Given the description of an element on the screen output the (x, y) to click on. 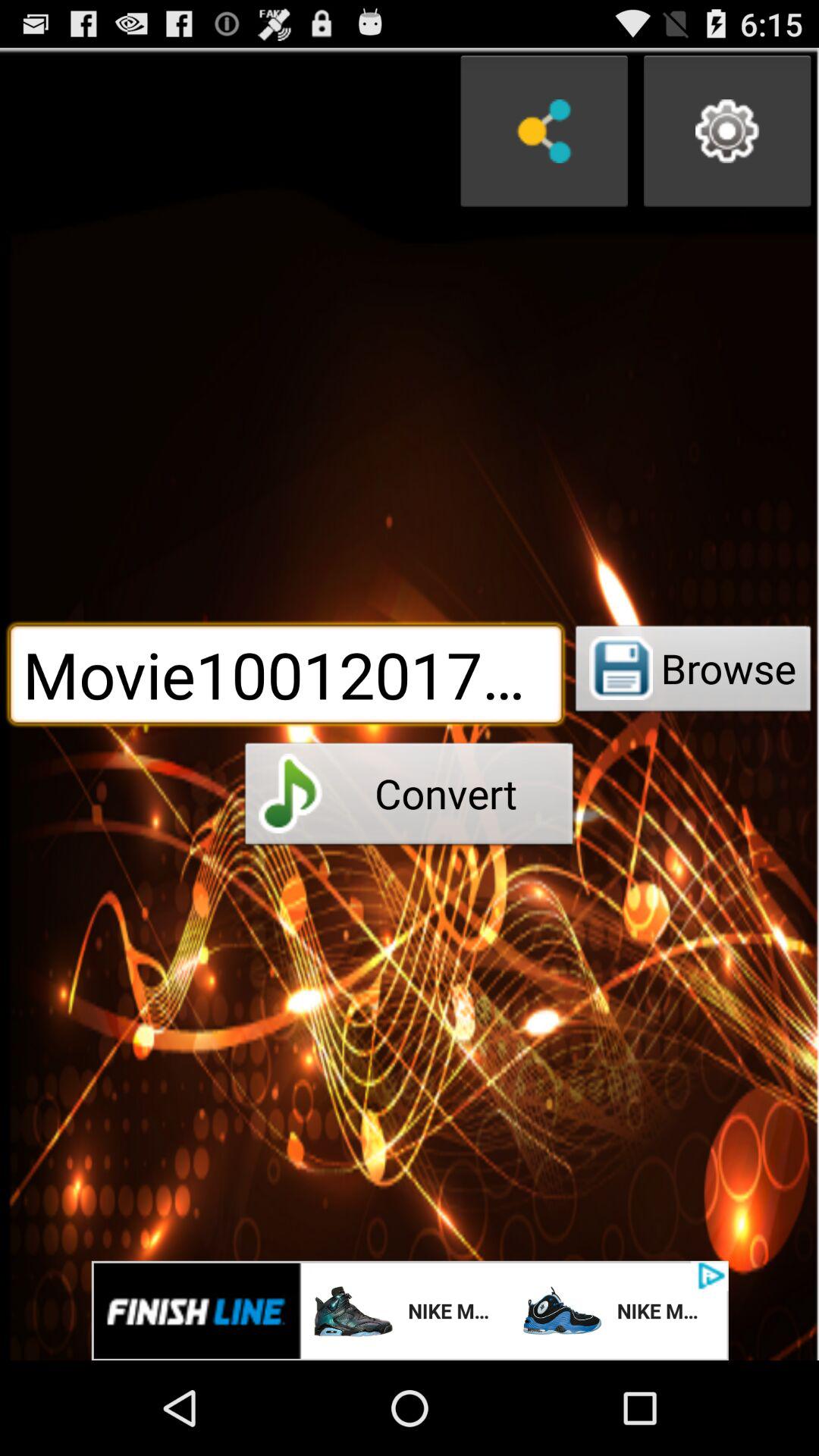
share (543, 130)
